Given the description of an element on the screen output the (x, y) to click on. 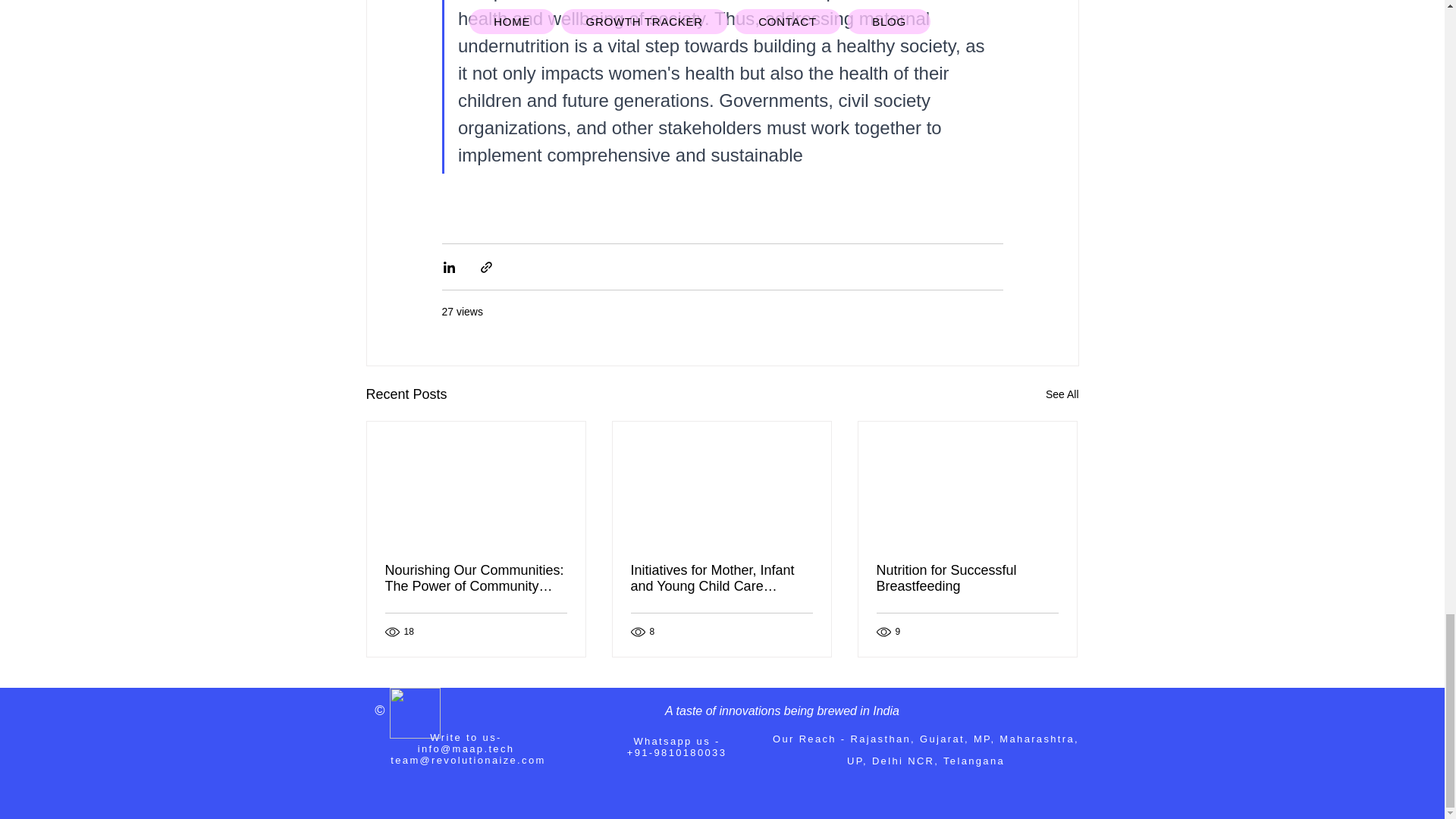
See All (1061, 394)
Nourishing Our Communities: The Power of Community Nutrition (476, 578)
Nutrition for Successful Breastfeeding (967, 578)
